Given the description of an element on the screen output the (x, y) to click on. 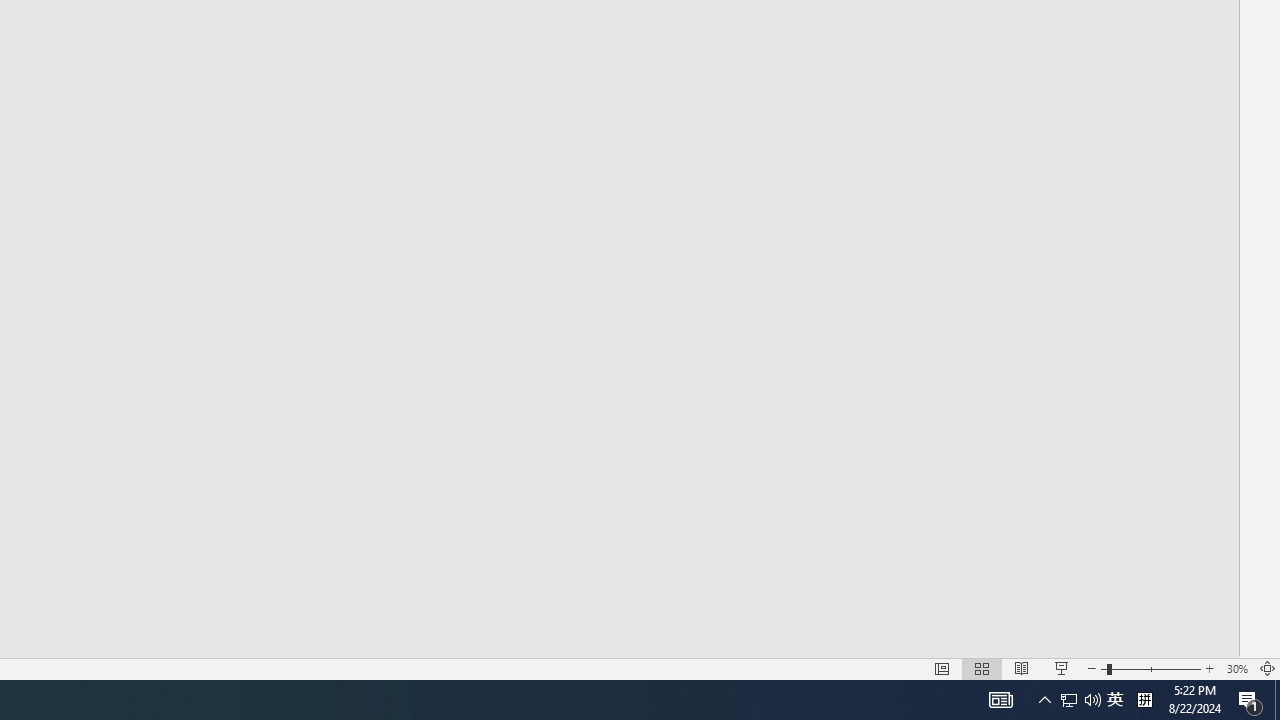
Zoom 30% (1236, 668)
